Given the description of an element on the screen output the (x, y) to click on. 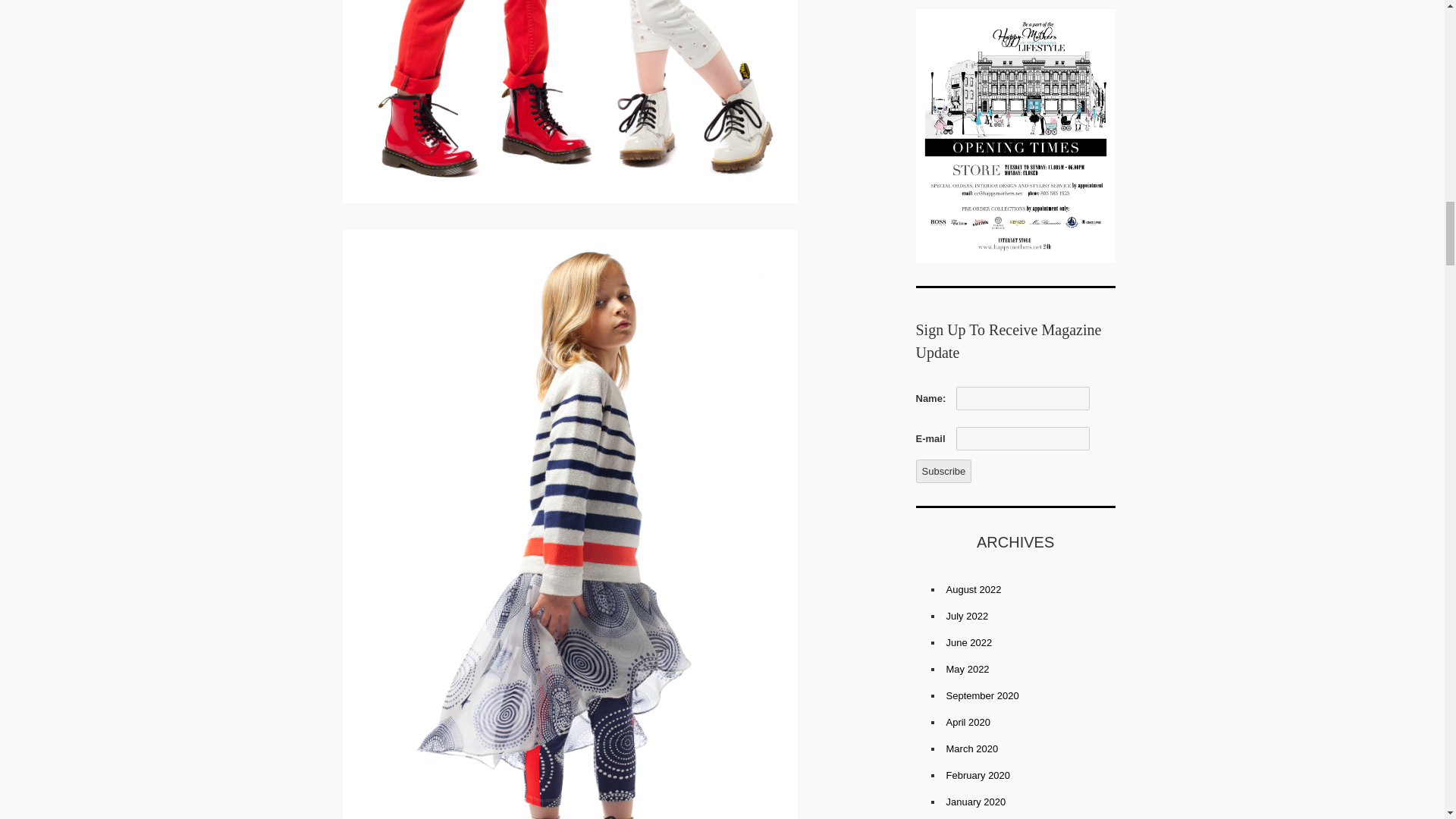
Subscribe (943, 471)
